Given the description of an element on the screen output the (x, y) to click on. 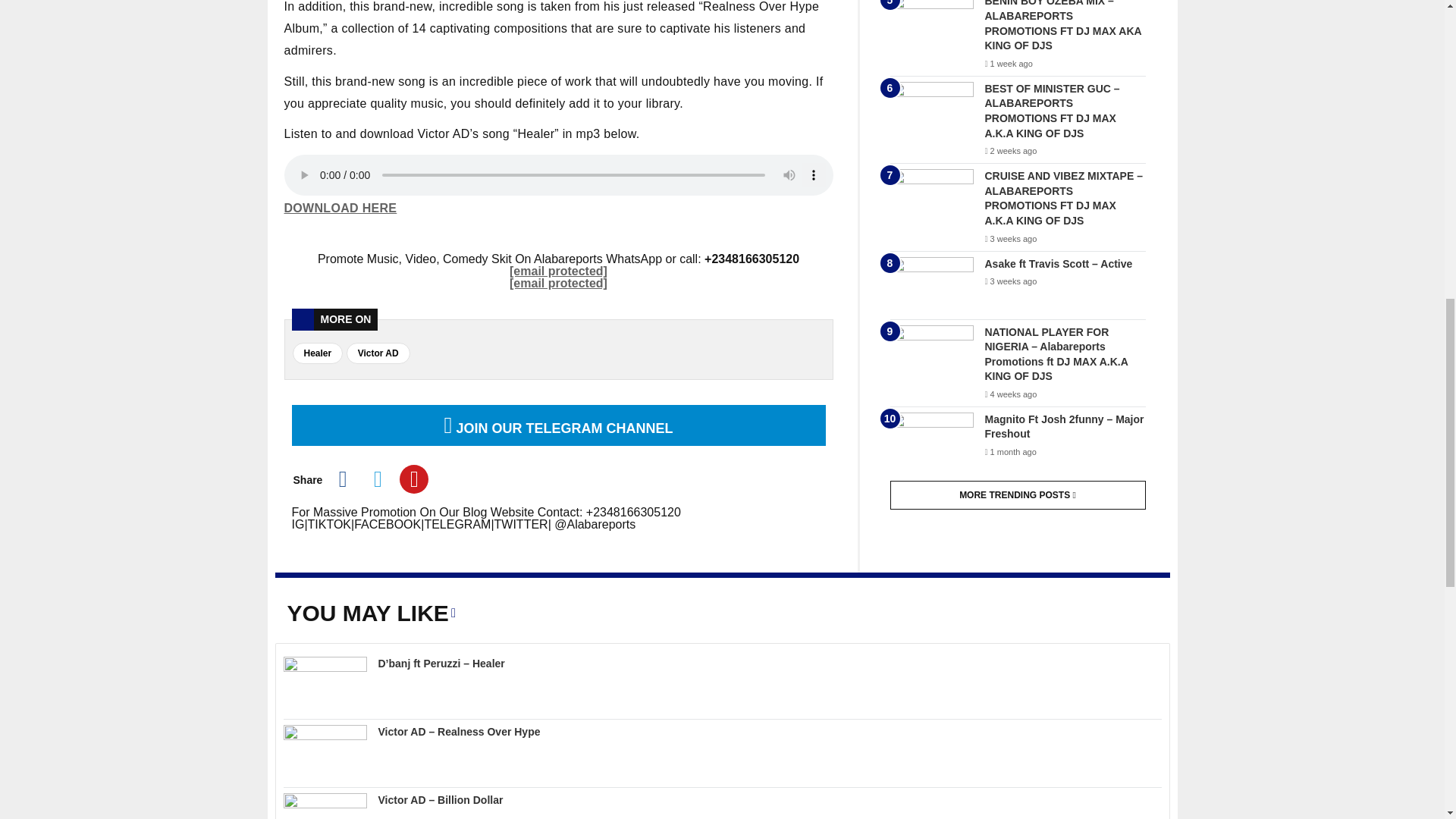
DOWNLOAD HERE (339, 207)
Healer (317, 353)
Victor AD (378, 353)
